Given the description of an element on the screen output the (x, y) to click on. 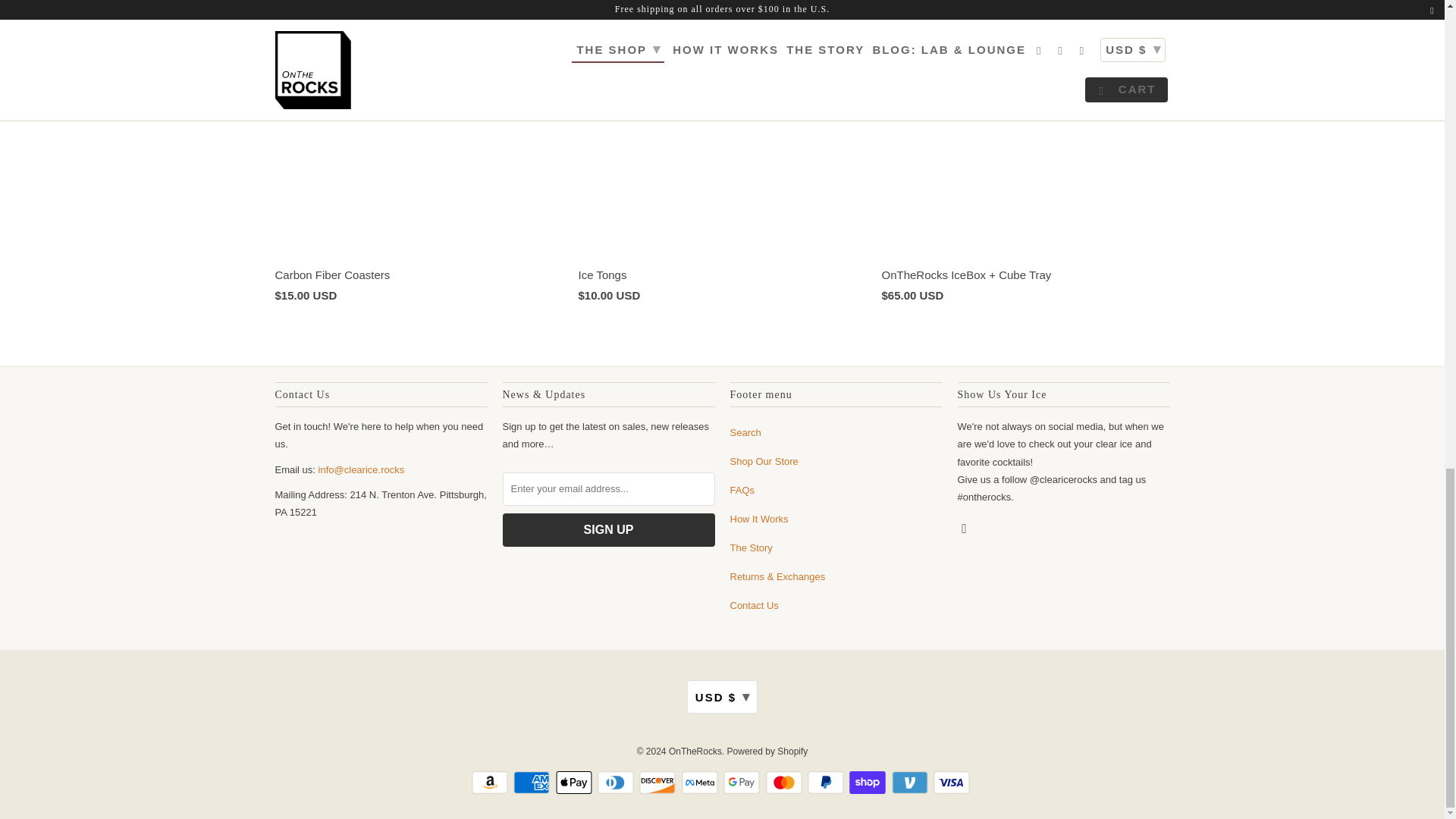
Mastercard (785, 782)
Apple Pay (575, 782)
American Express (533, 782)
Meta Pay (700, 782)
Visa (952, 782)
Discover (658, 782)
PayPal (827, 782)
Amazon (491, 782)
Sign Up (608, 530)
Venmo (911, 782)
Diners Club (616, 782)
Shop Pay (868, 782)
OnTheRocks on Instagram (965, 527)
Google Pay (742, 782)
